Given the description of an element on the screen output the (x, y) to click on. 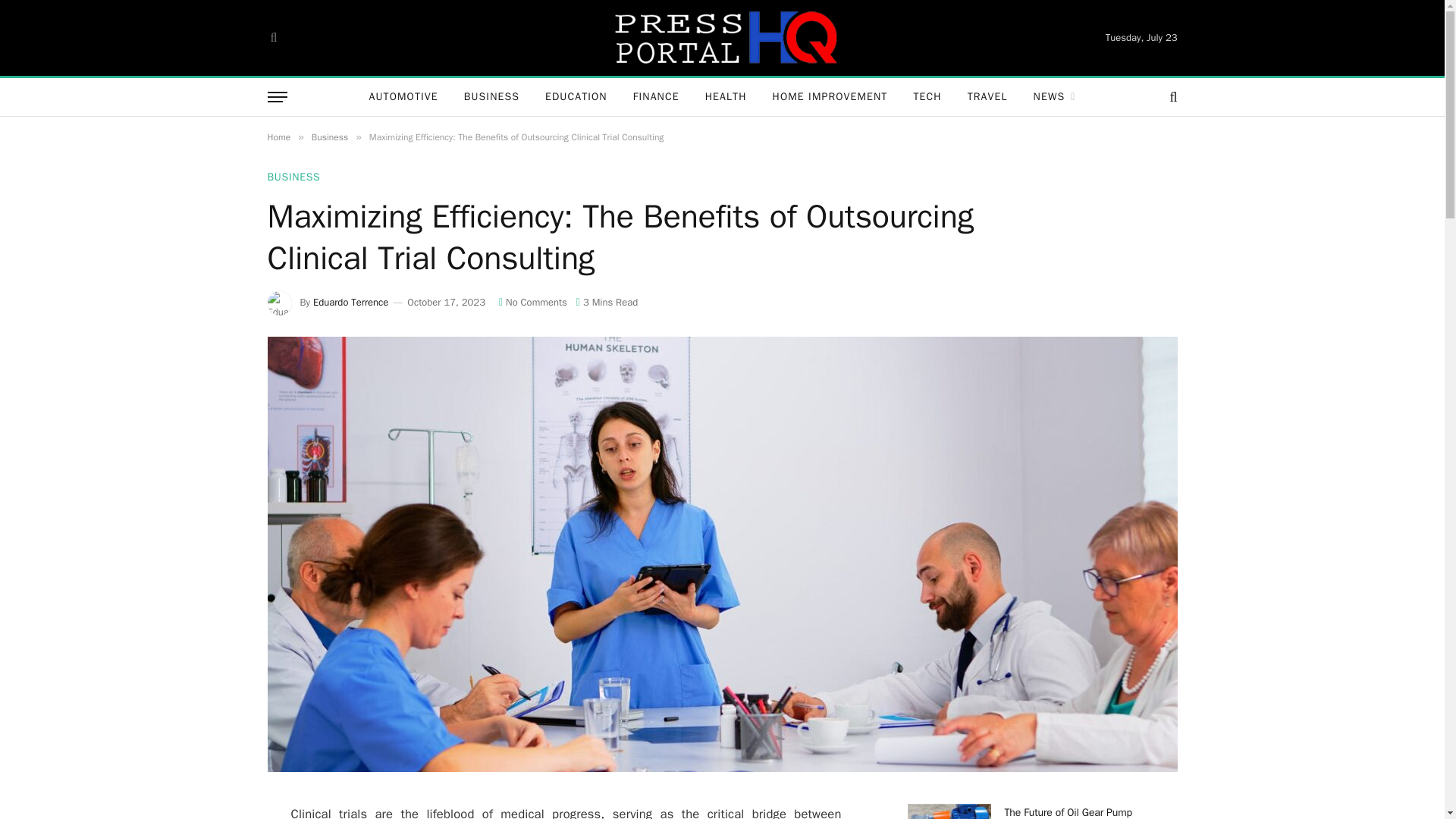
NEWS (1054, 96)
EDUCATION (576, 96)
BUSINESS (293, 176)
No Comments (533, 301)
Eduardo Terrence (350, 301)
FINANCE (656, 96)
TECH (926, 96)
TRAVEL (987, 96)
HOME IMPROVEMENT (830, 96)
Home (277, 137)
Search (271, 38)
AUTOMOTIVE (402, 96)
Business (329, 137)
